Given the description of an element on the screen output the (x, y) to click on. 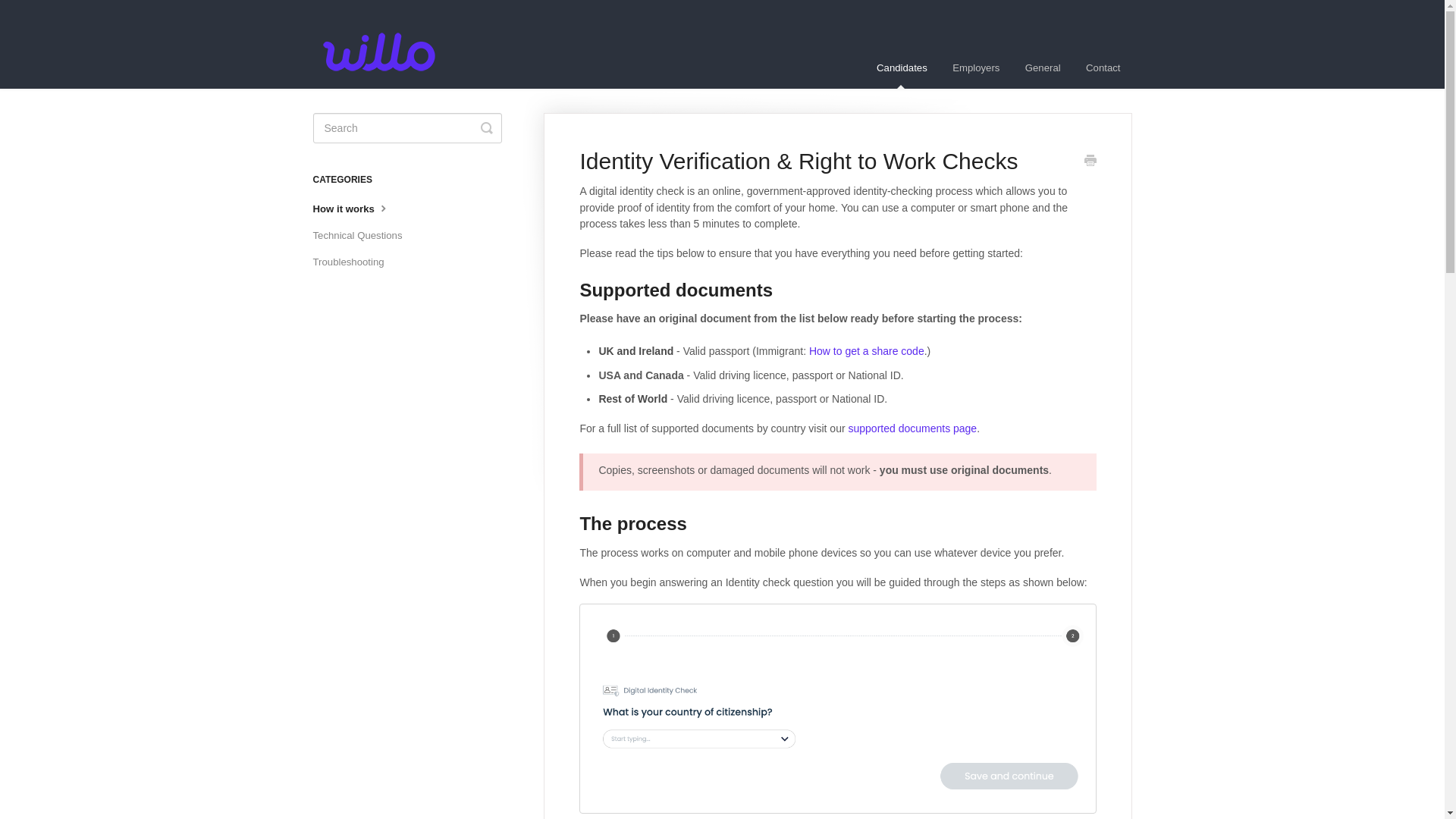
General (1042, 67)
Contact (1102, 67)
Candidates (901, 67)
Technical Questions (363, 235)
Employers (975, 67)
supported documents page (911, 428)
Troubleshooting (353, 262)
How to get a share code (866, 350)
search-query (406, 128)
How it works (357, 208)
